Given the description of an element on the screen output the (x, y) to click on. 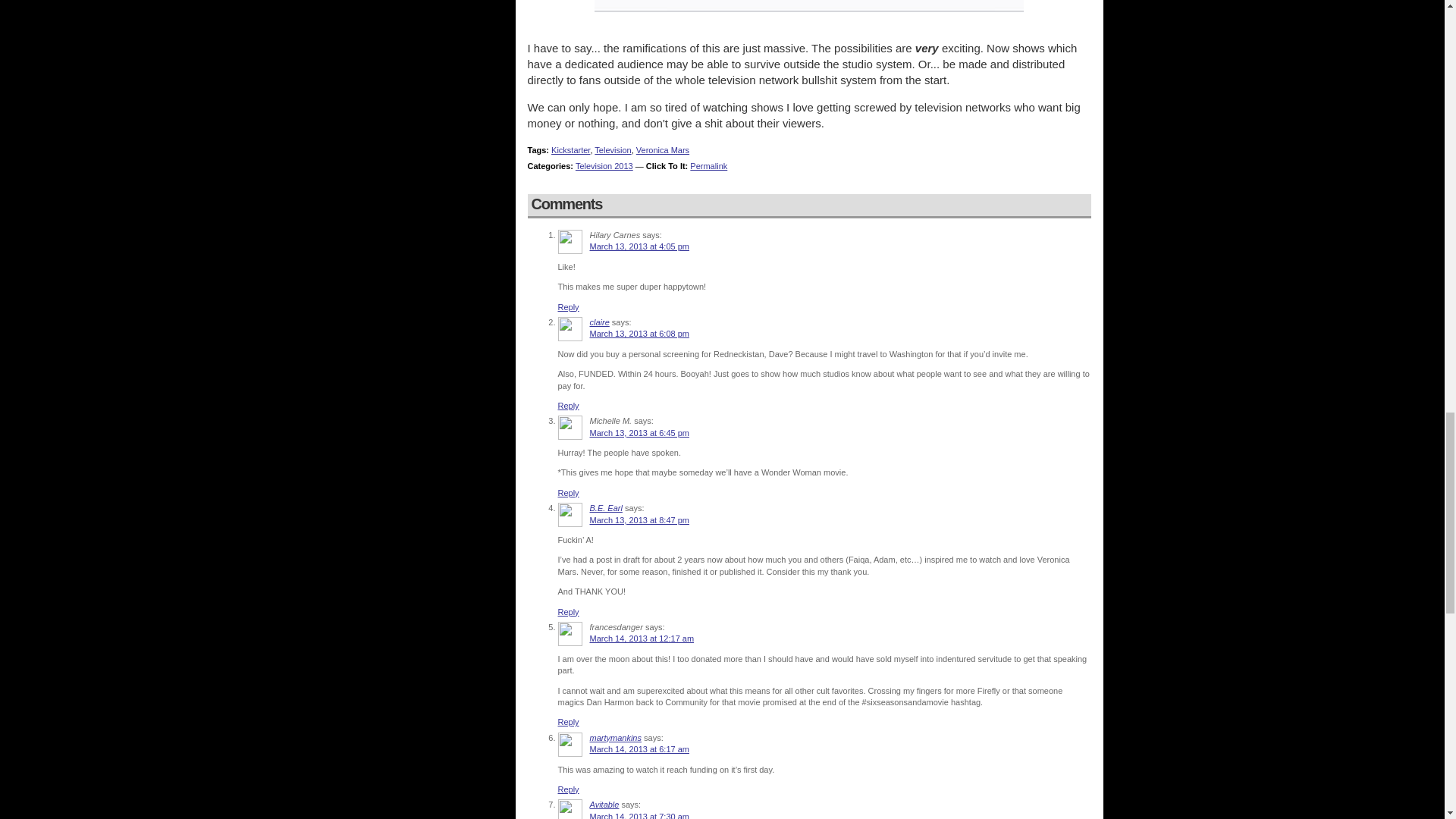
martymankins (615, 737)
B.E. Earl (606, 507)
March 13, 2013 at 4:05 pm (638, 245)
Kickstarter (570, 149)
claire (599, 321)
March 13, 2013 at 6:45 pm (638, 432)
Permalink (708, 165)
March 14, 2013 at 12:17 am (641, 637)
Reply (568, 405)
Television 2013 (604, 165)
